Given the description of an element on the screen output the (x, y) to click on. 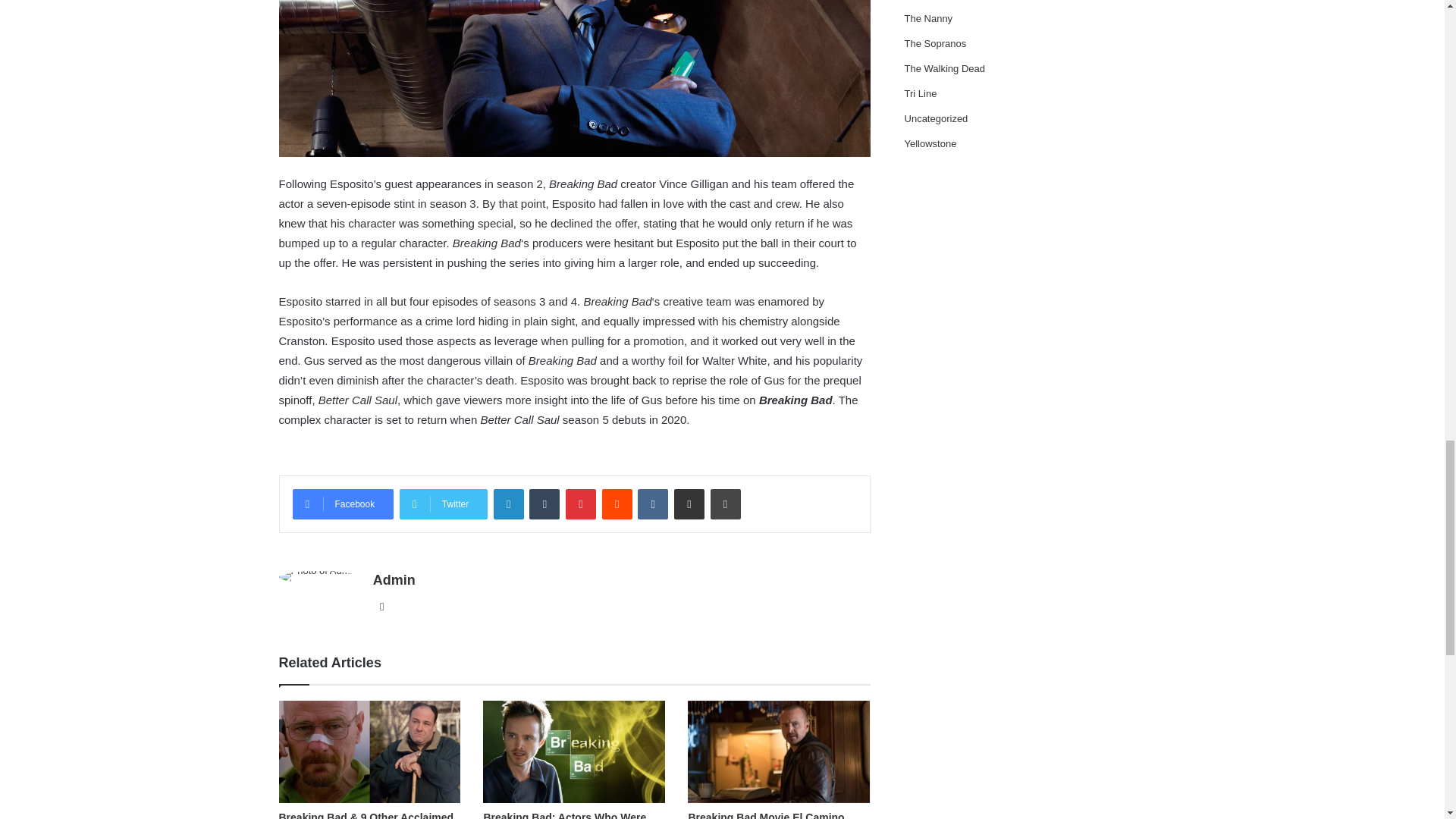
Admin (393, 580)
Share via Email (689, 503)
Facebook (343, 503)
LinkedIn (508, 503)
Reddit (616, 503)
Tumblr (544, 503)
LinkedIn (508, 503)
Print (725, 503)
Reddit (616, 503)
Facebook (343, 503)
Pinterest (580, 503)
VKontakte (652, 503)
VKontakte (652, 503)
Twitter (442, 503)
